Given the description of an element on the screen output the (x, y) to click on. 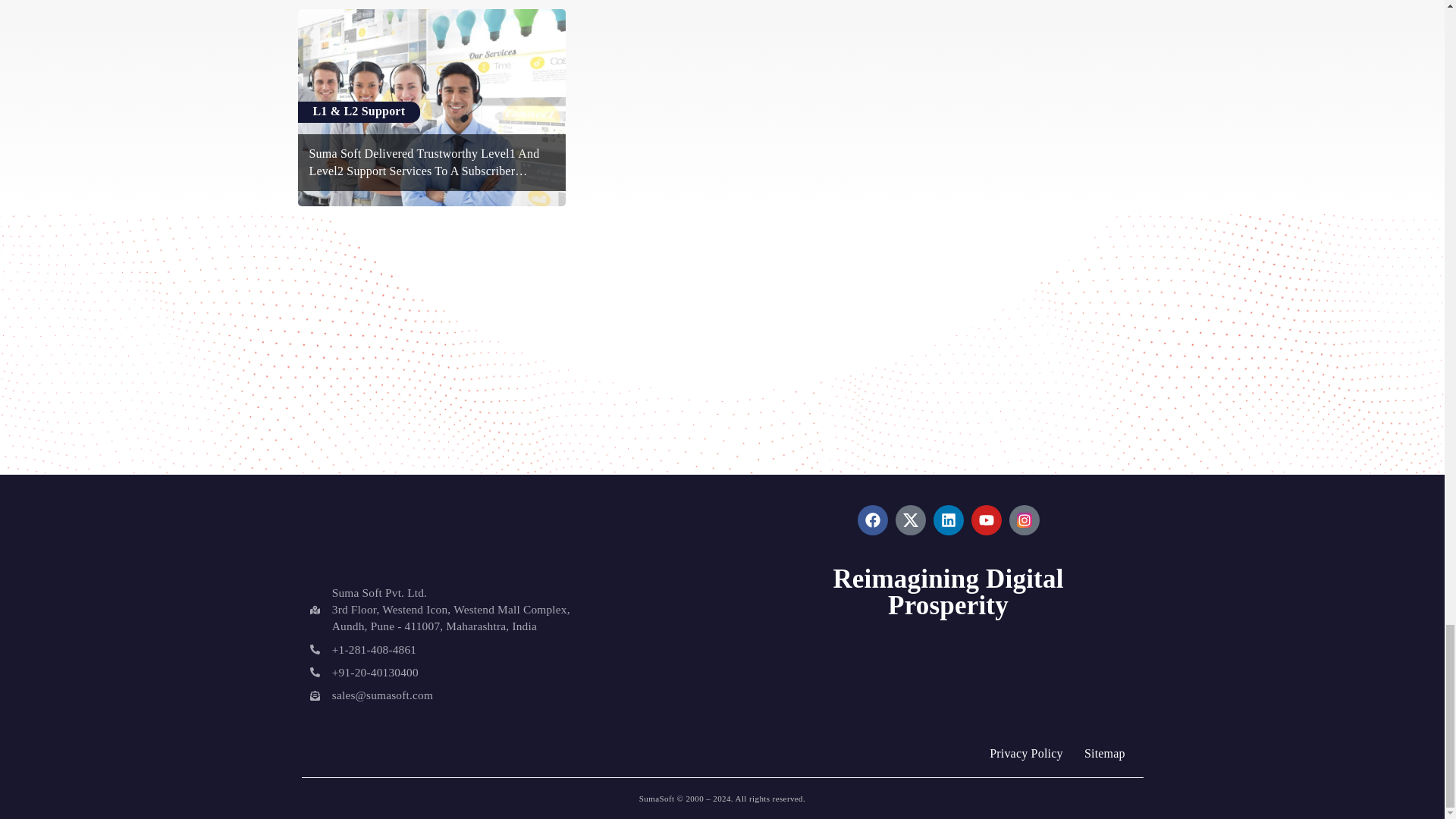
SUMA (384, 531)
